Given the description of an element on the screen output the (x, y) to click on. 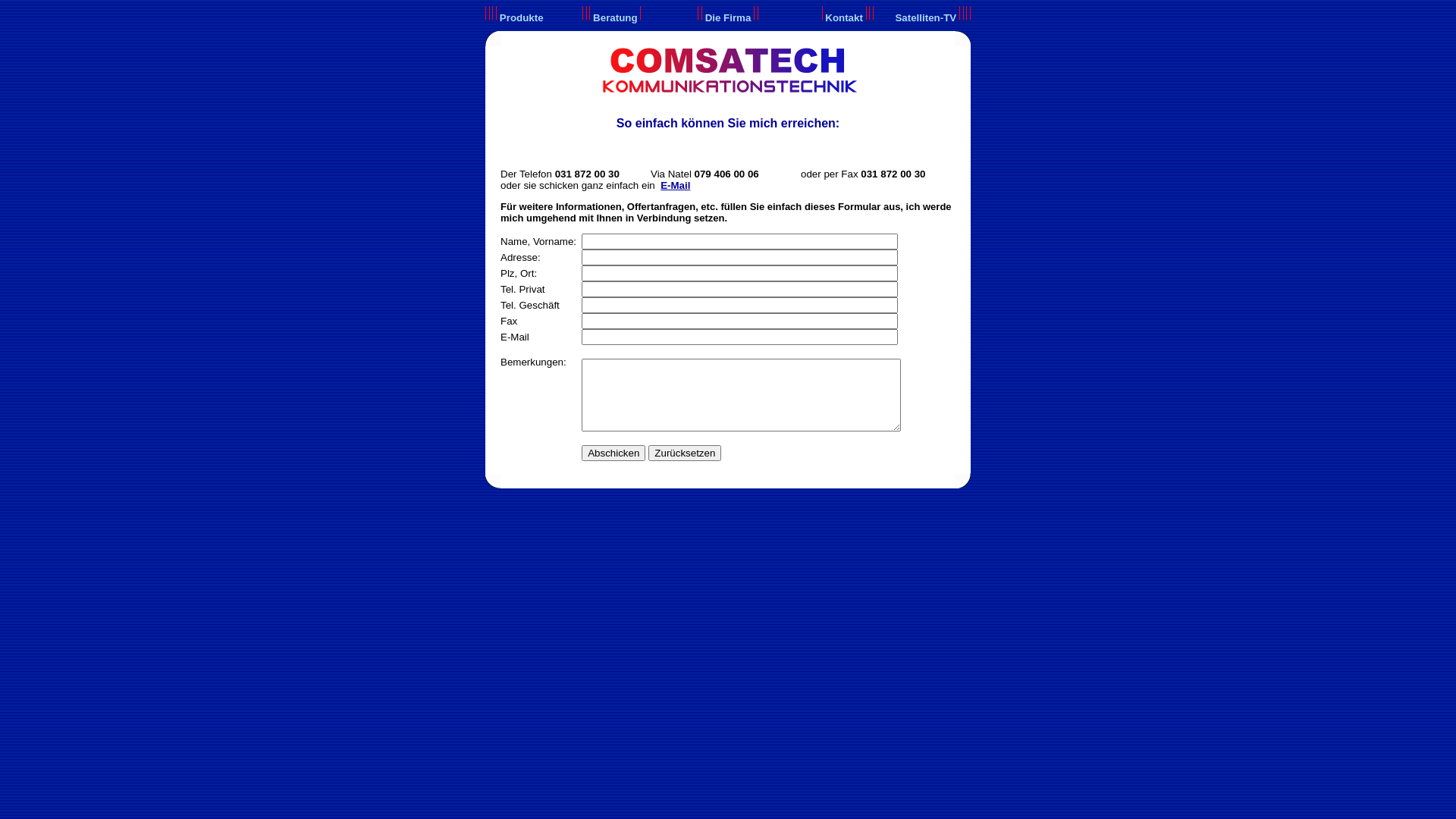
E-Mail Element type: text (675, 185)
Formular Element type: text (858, 206)
Die Firma Element type: text (728, 17)
Satelliten-TV Element type: text (925, 17)
Kontakt Element type: text (843, 17)
Abschicken Element type: text (613, 453)
Produkte Element type: text (521, 17)
Beratung Element type: text (615, 17)
